Given the description of an element on the screen output the (x, y) to click on. 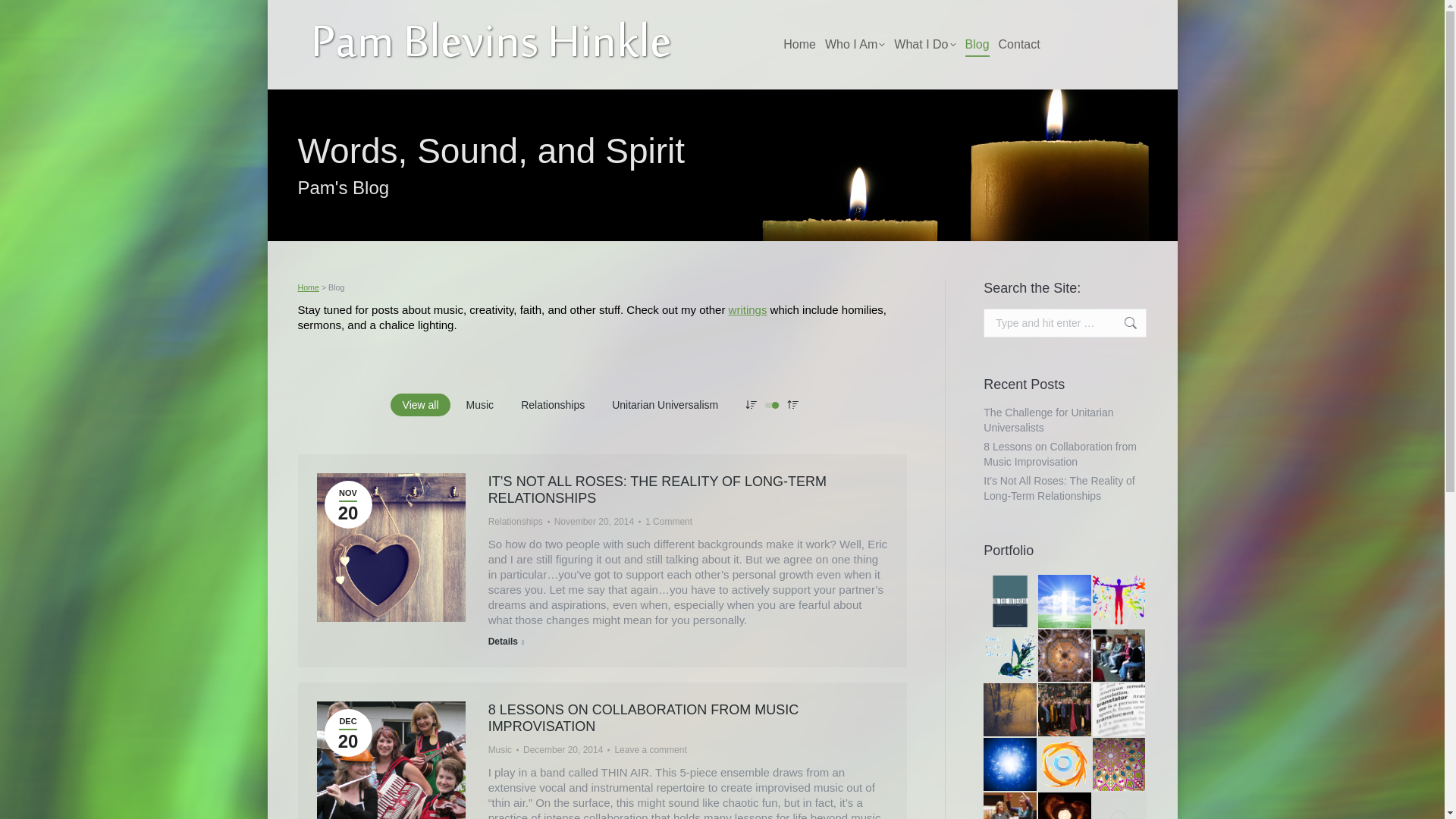
8 Lessons on Collaboration from Music Improvisation (643, 717)
Music (479, 404)
writings (748, 309)
Thin Air (348, 504)
Home (391, 760)
5:53 am (307, 286)
3:35 am (597, 521)
Home (348, 732)
Who I Am (799, 44)
Blog (855, 44)
What I Do (975, 44)
Contact (924, 44)
5:53 am (1019, 44)
Heart (348, 504)
